Given the description of an element on the screen output the (x, y) to click on. 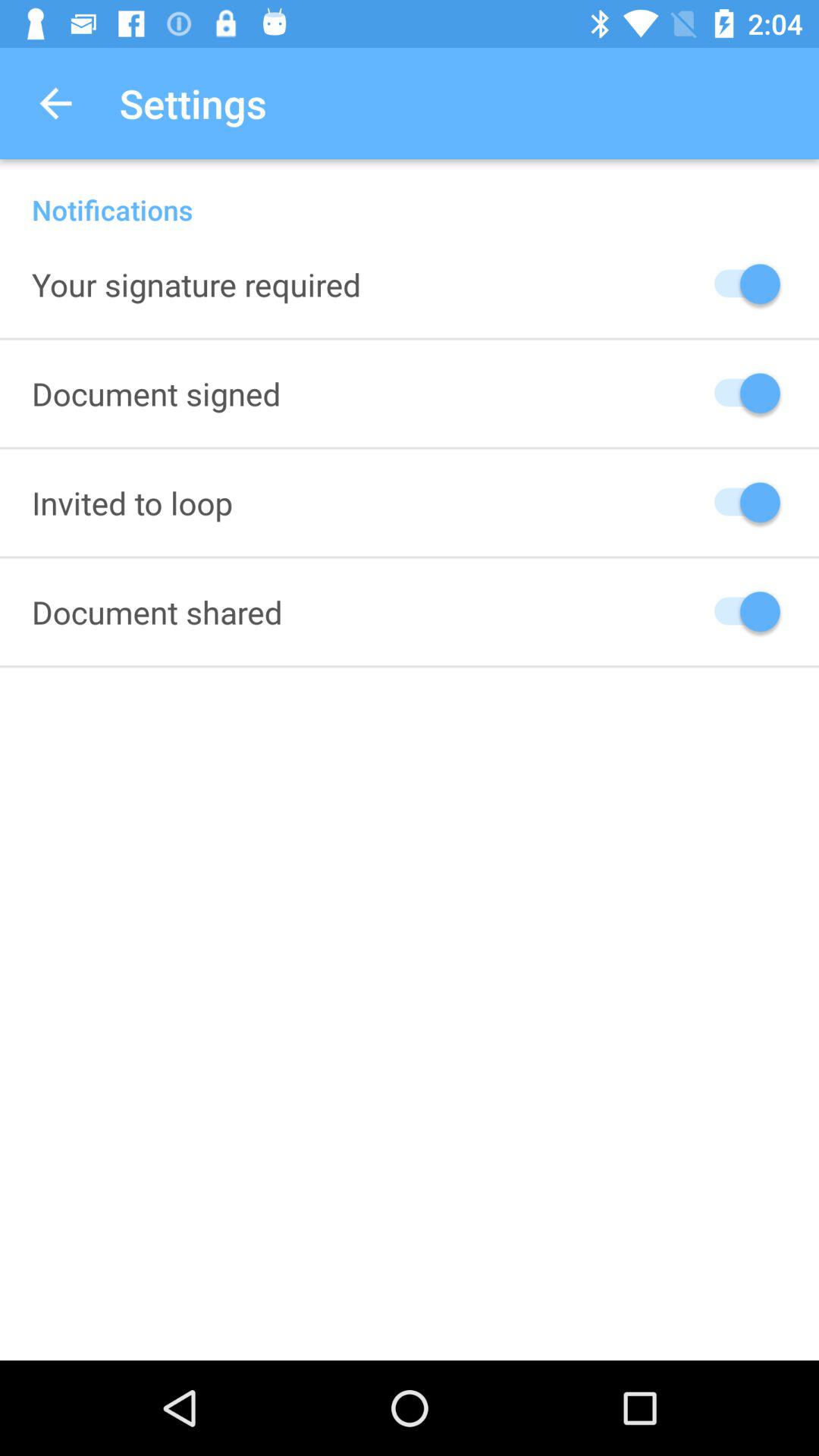
flip to invited to loop icon (131, 502)
